Given the description of an element on the screen output the (x, y) to click on. 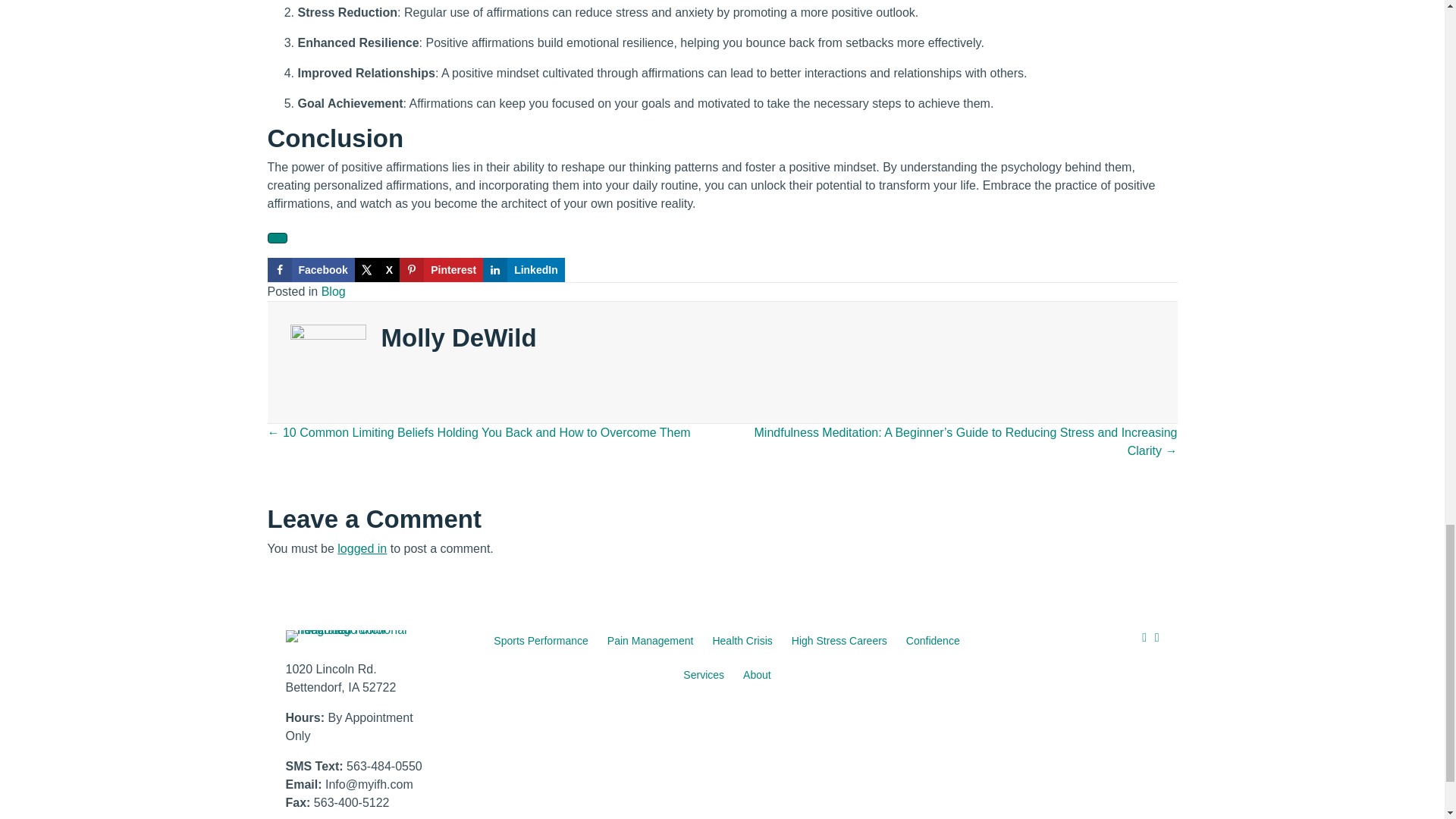
Pinterest (440, 269)
Share on Facebook (309, 269)
integrated functional health logo color horizontal (353, 635)
Sports Performance (540, 641)
Share on X (376, 269)
Pain Management (650, 641)
Facebook (309, 269)
Blog (333, 291)
LinkedIn (523, 269)
Save to Pinterest (440, 269)
